Given the description of an element on the screen output the (x, y) to click on. 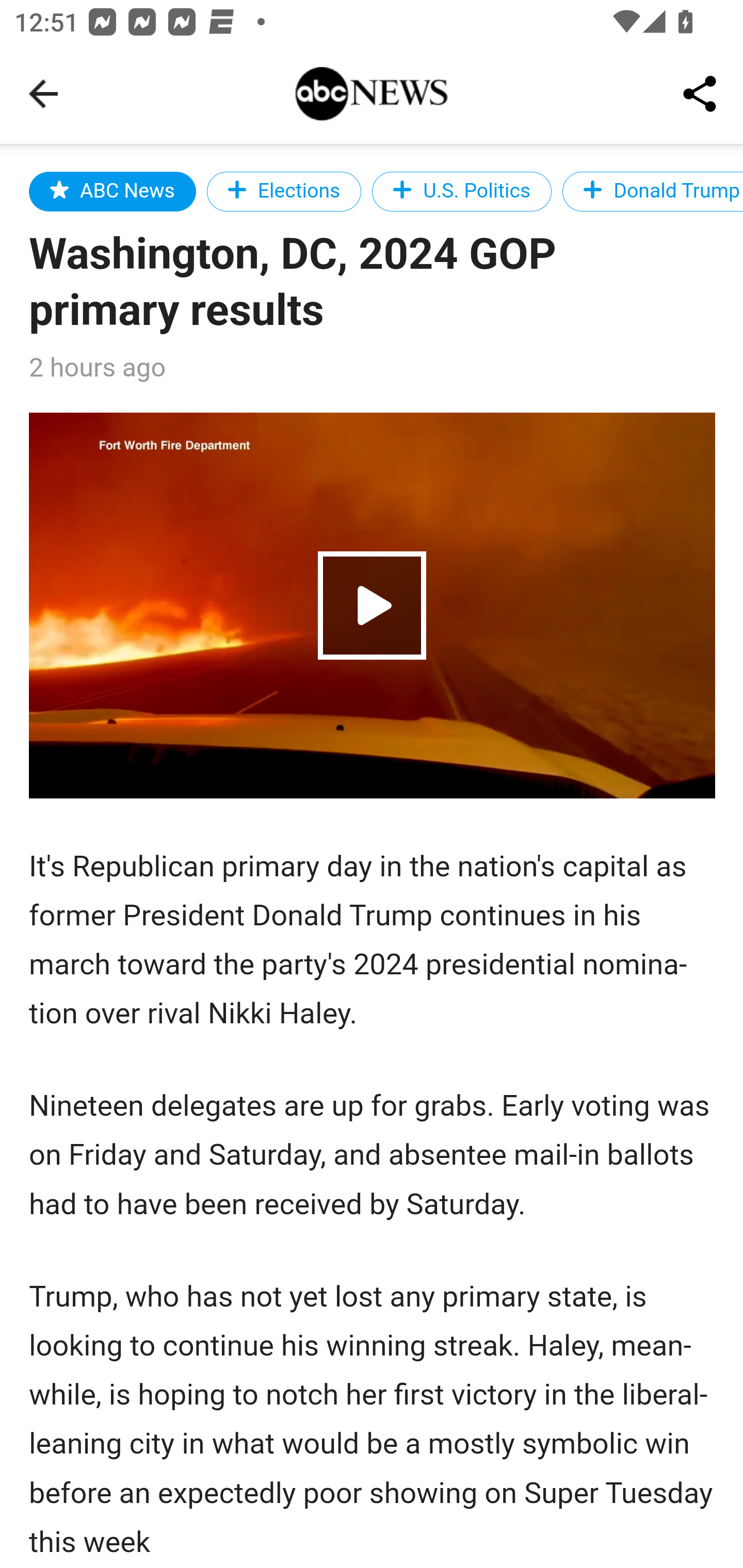
ABC News (112, 191)
Elections (283, 191)
U.S. Politics (462, 191)
Donald Trump (652, 191)
Video (372, 604)
